Given the description of an element on the screen output the (x, y) to click on. 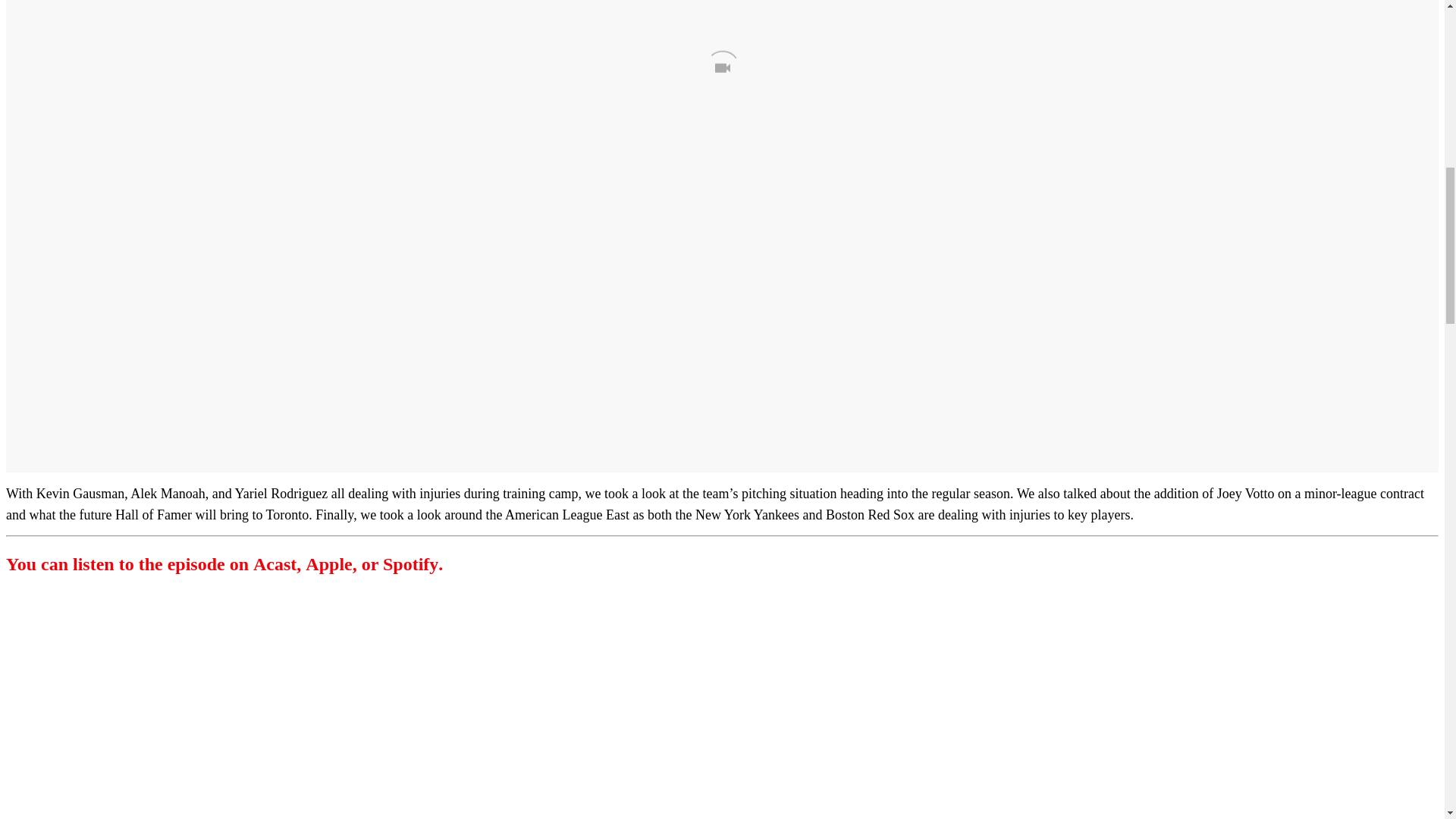
Spotify (410, 564)
Apple (328, 564)
Acast (275, 564)
